Given the description of an element on the screen output the (x, y) to click on. 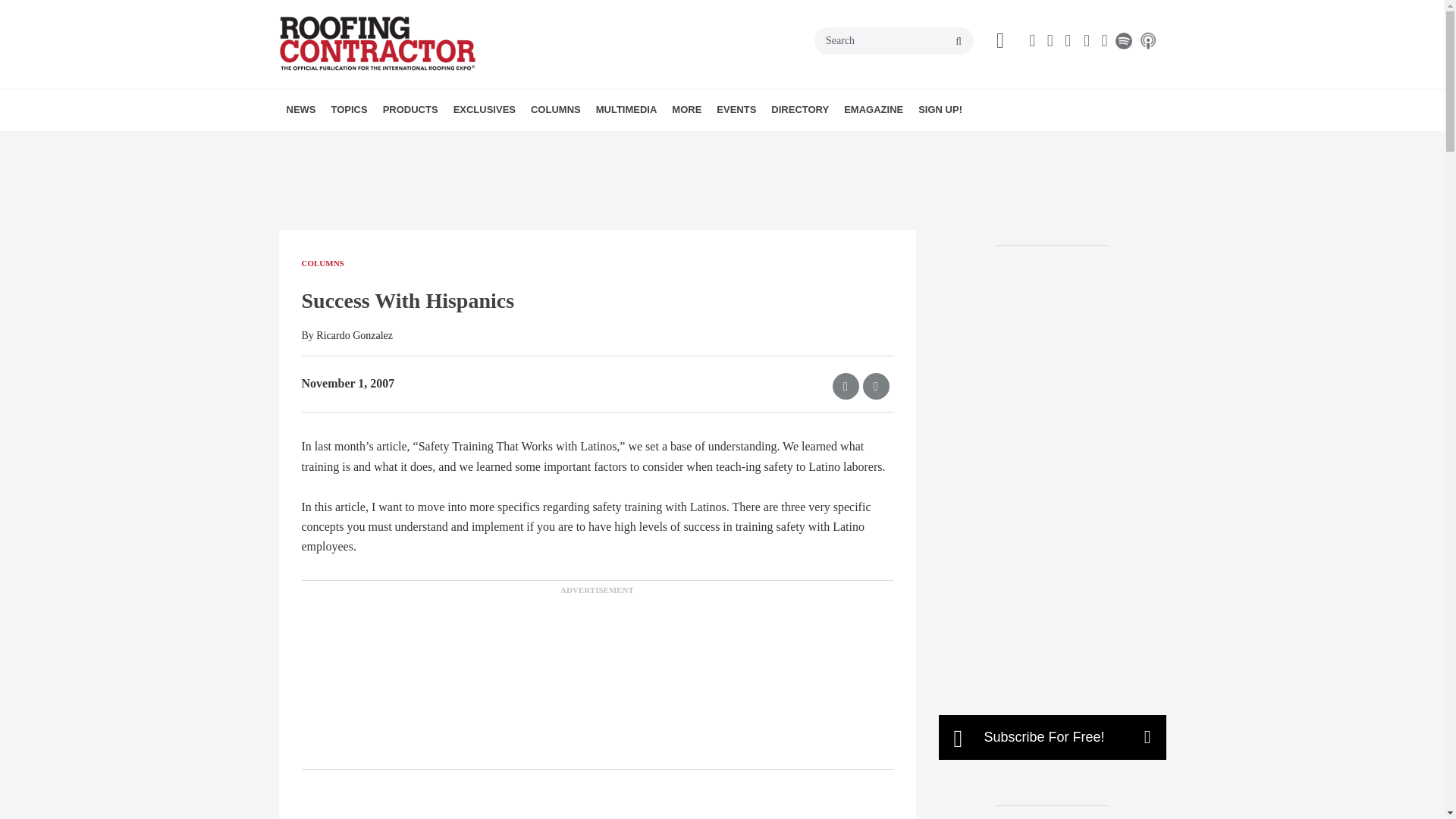
BEST OF SUCCESS (539, 143)
COOL ROOFING (417, 143)
IRE SHOW (552, 143)
CONTRACTOR PROFILE (547, 143)
ROOFING CONTRACTOR OF THE YEAR (558, 152)
ROOFING SUPPLY PRO (449, 143)
STEEP SLOPE (455, 143)
Search (893, 40)
EXCLUSIVES (483, 109)
Search (893, 40)
